Given the description of an element on the screen output the (x, y) to click on. 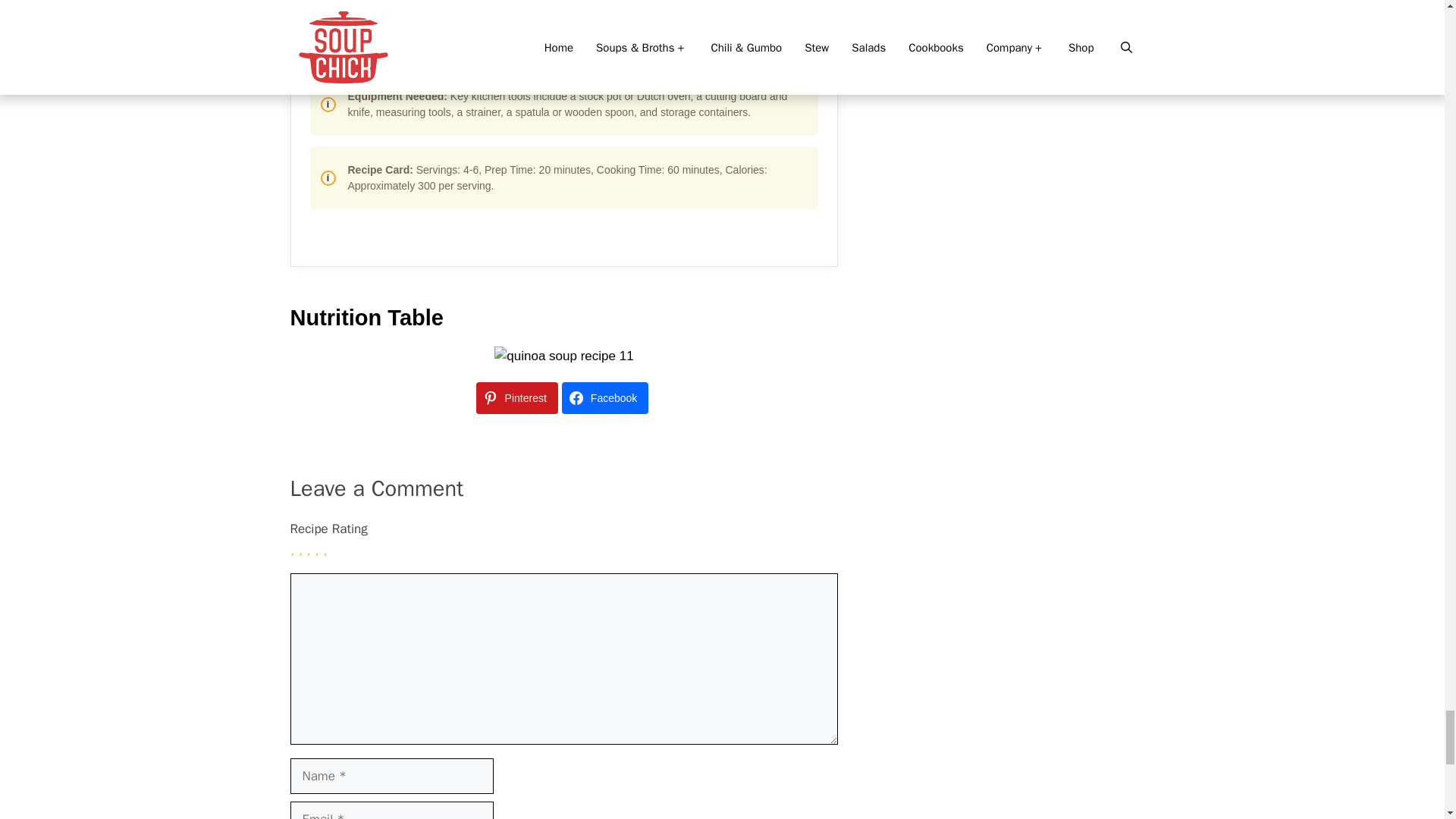
Share on Pinterest (516, 398)
Facebook (604, 398)
Share on Facebook (604, 398)
Pinterest (516, 398)
